Given the description of an element on the screen output the (x, y) to click on. 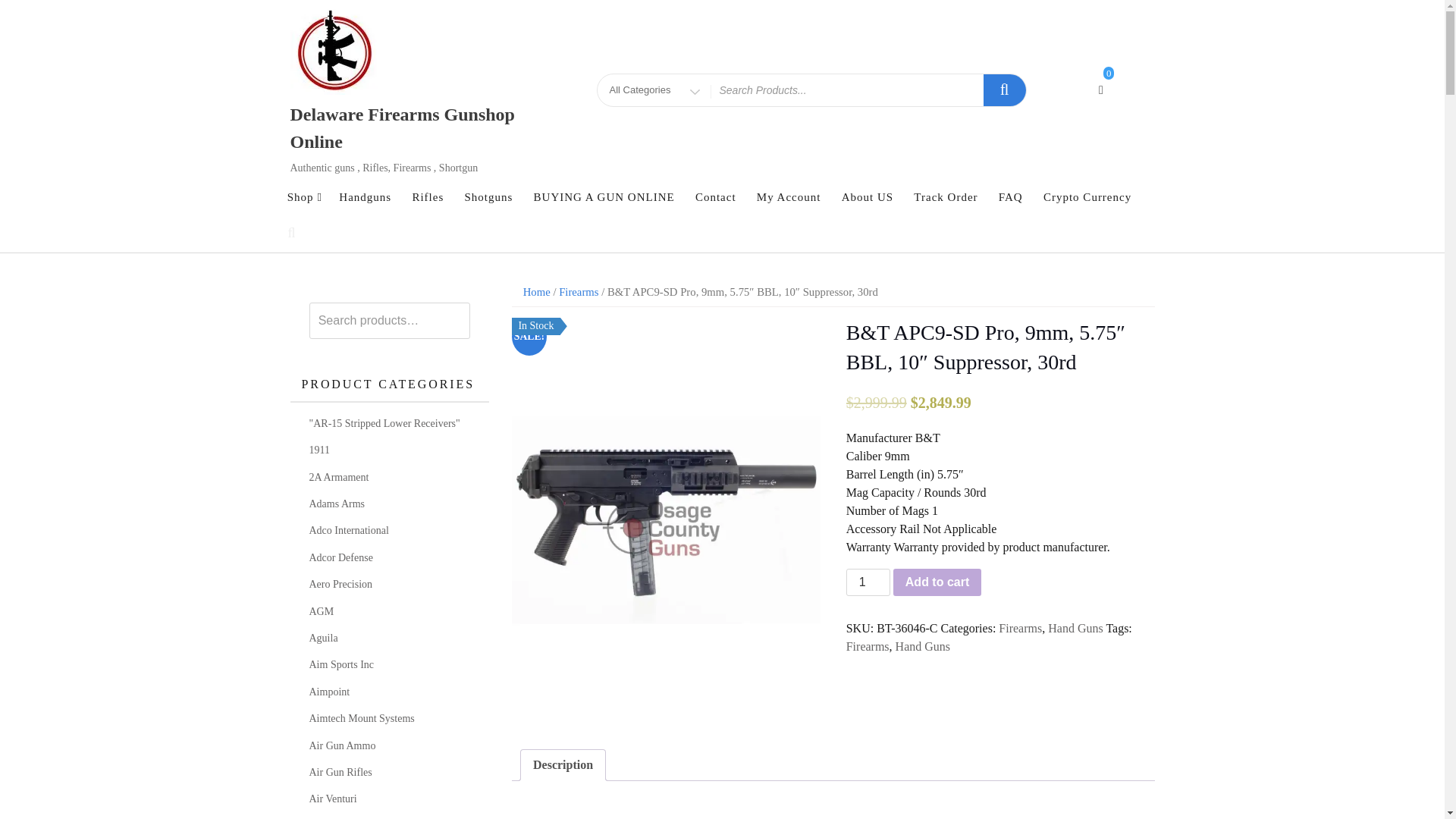
Shotguns (488, 197)
Search (33, 16)
Handguns (364, 197)
Shop (303, 197)
My Account (788, 197)
Contact (715, 197)
Aimtech Mount Systems (361, 717)
BUYING A GUN ONLINE (603, 197)
AGM (321, 611)
Rifles (427, 197)
Delaware Firearms Gunshop Online (401, 127)
Aimpoint (329, 691)
FAQ (1010, 197)
Adcor Defense (340, 557)
Adams Arms (336, 503)
